Given the description of an element on the screen output the (x, y) to click on. 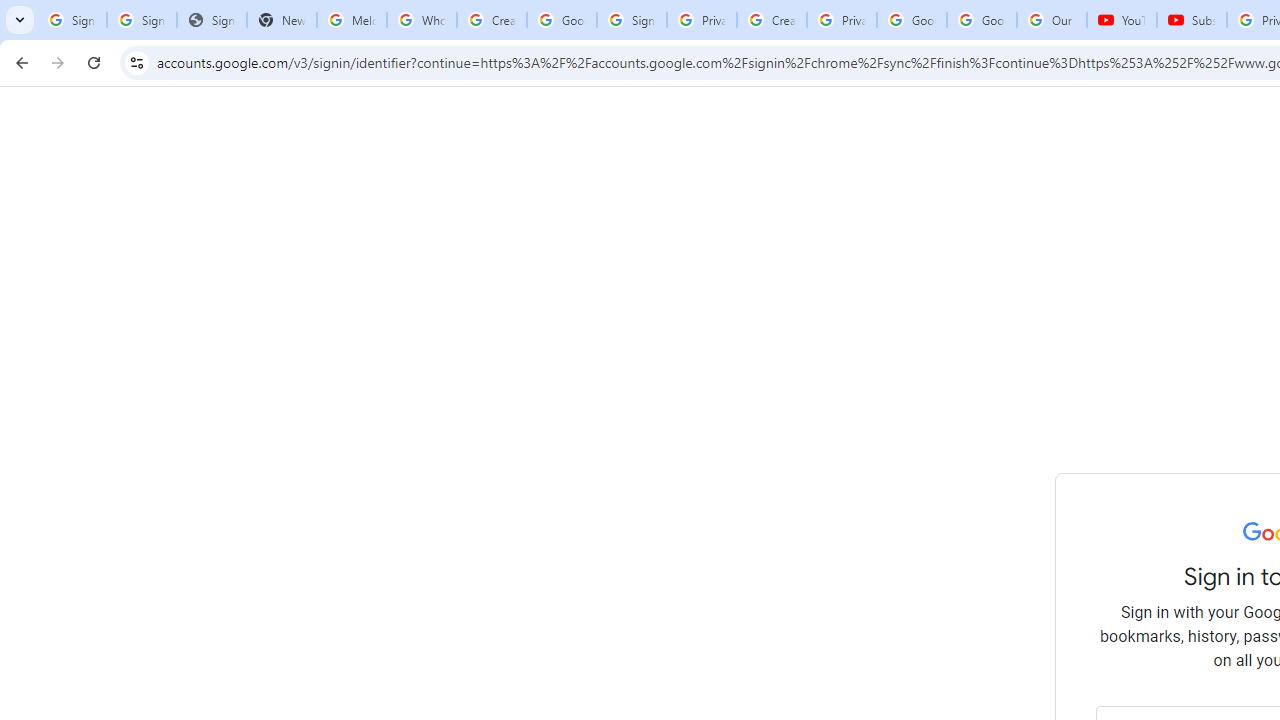
Google Account (982, 20)
Sign in - Google Accounts (631, 20)
Create your Google Account (492, 20)
Subscriptions - YouTube (1192, 20)
